Given the description of an element on the screen output the (x, y) to click on. 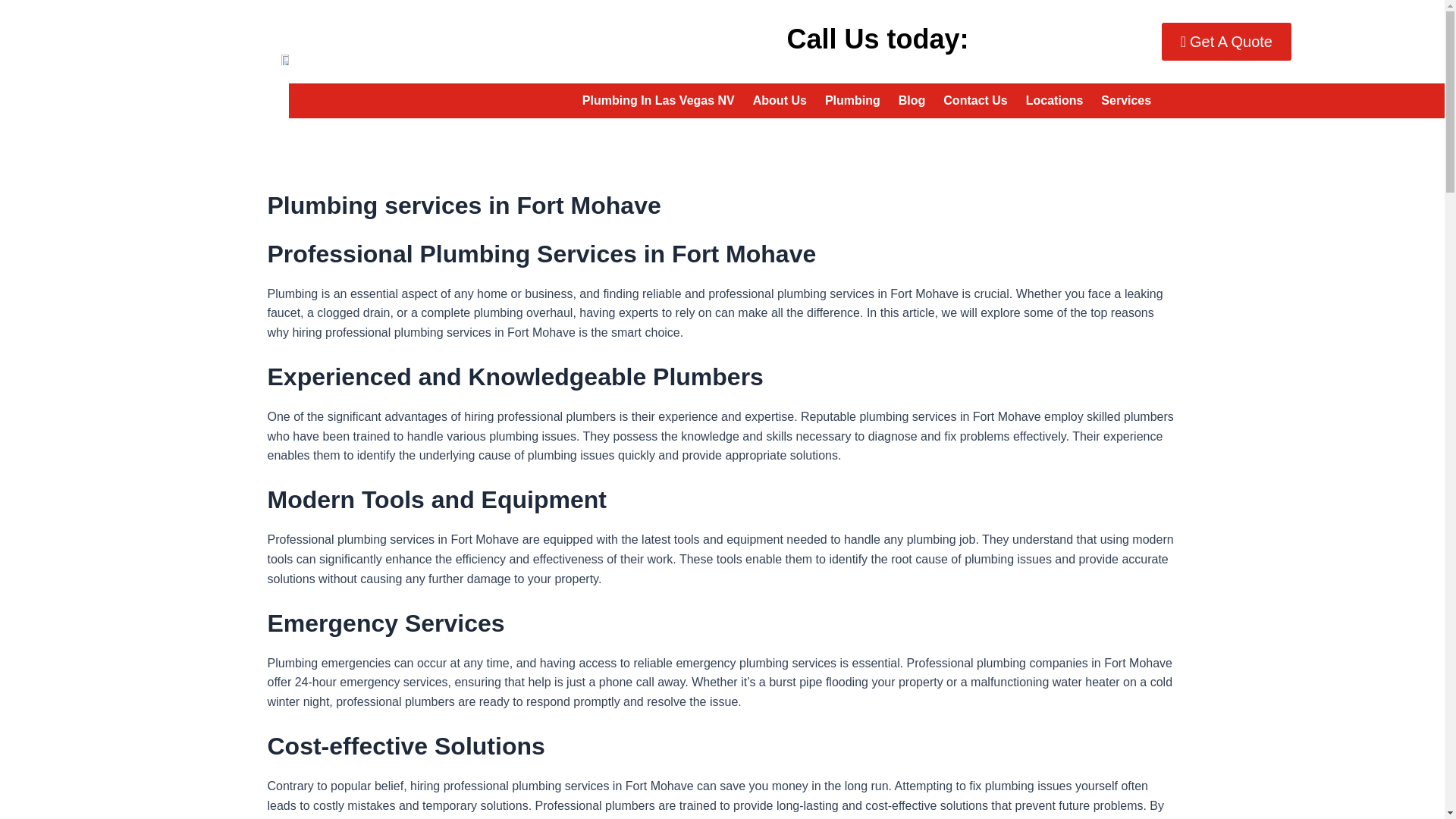
Blog (911, 100)
Plumbing In Las Vegas NV (658, 100)
Locations (1054, 100)
Contact Us (975, 100)
Plumbing (852, 100)
Call Us today: (965, 38)
Get A Quote (1226, 41)
About Us (779, 100)
Services (1126, 100)
